Given the description of an element on the screen output the (x, y) to click on. 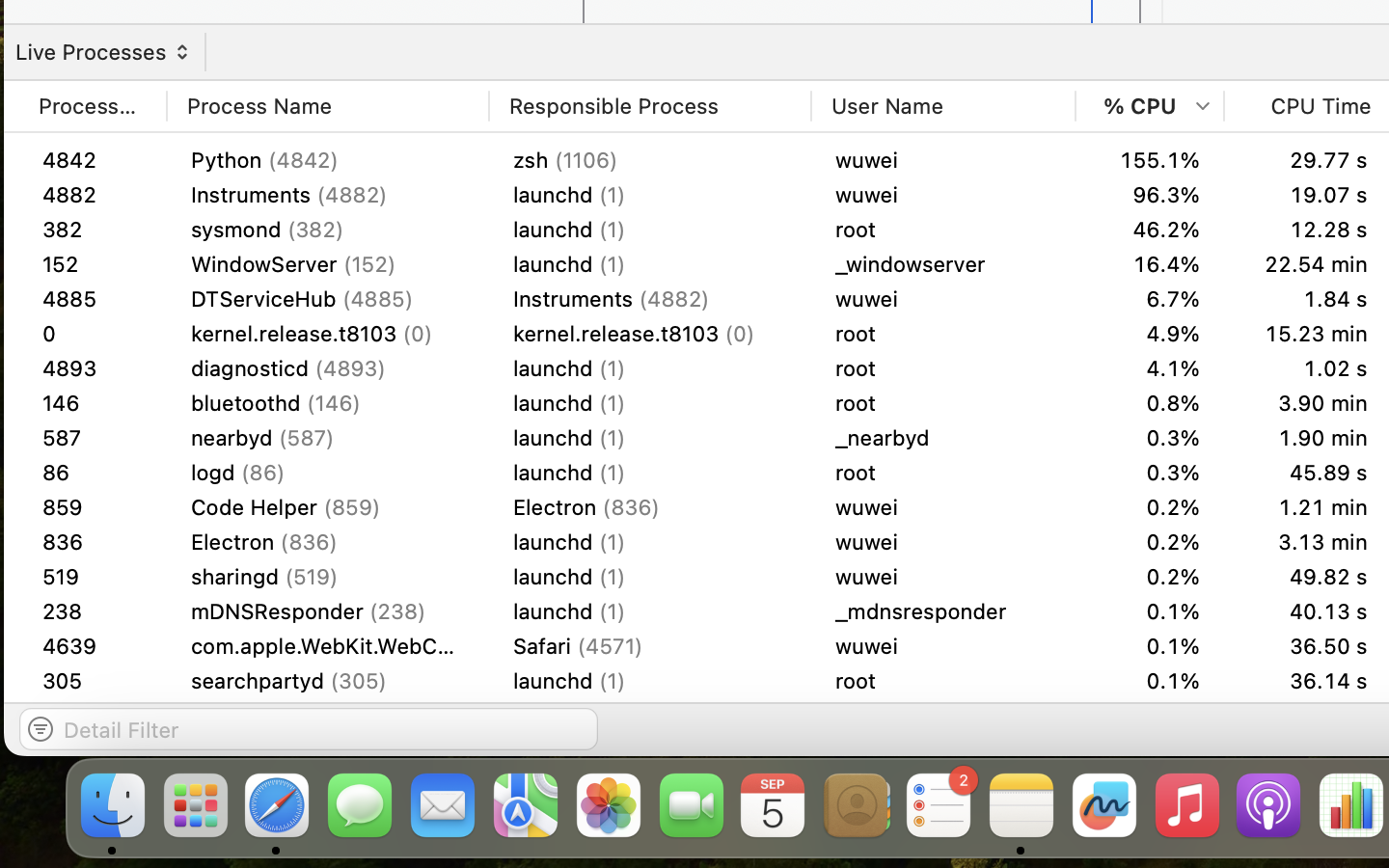
0.8% Element type: AXStaticText (1149, 749)
wuwei Element type: AXStaticText (943, 437)
3.1% Element type: AXStaticText (1149, 298)
152 Element type: AXStaticText (92, 263)
1 Element type: AXStaticText (92, 749)
